Given the description of an element on the screen output the (x, y) to click on. 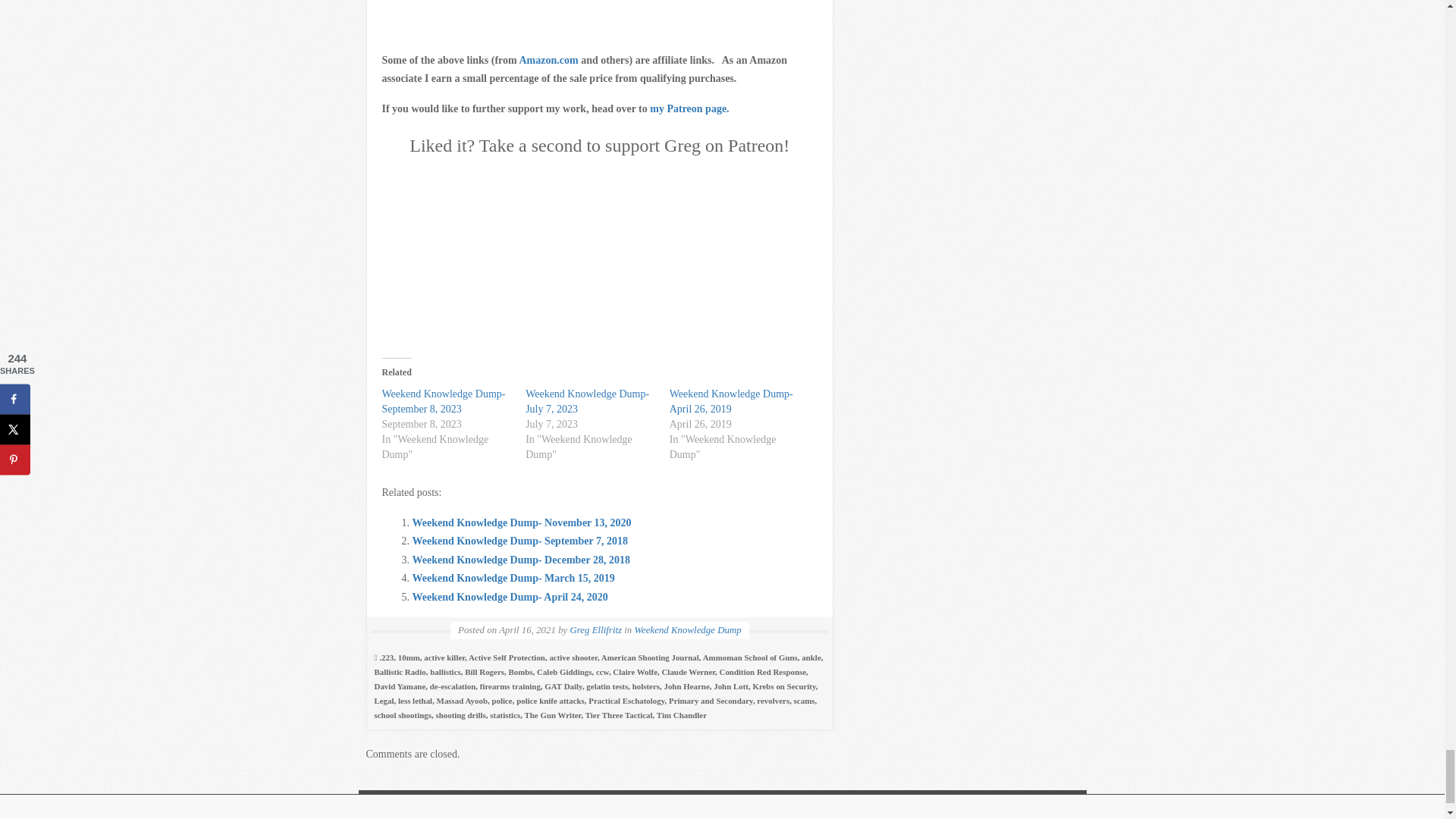
Weekend Knowledge Dump- September 8, 2023 (443, 401)
Weekend Knowledge Dump- April 24, 2020 (510, 596)
View all posts by Greg Ellifritz (596, 629)
Weekend Knowledge Dump- April 26, 2019 (731, 401)
Weekend Knowledge Dump- March 15, 2019 (513, 577)
Weekend Knowledge Dump- July 7, 2023 (587, 401)
Weekend Knowledge Dump- December 28, 2018 (521, 559)
Weekend Knowledge Dump- November 13, 2020 (521, 522)
Weekend Knowledge Dump- September 7, 2018 (519, 541)
